Given the description of an element on the screen output the (x, y) to click on. 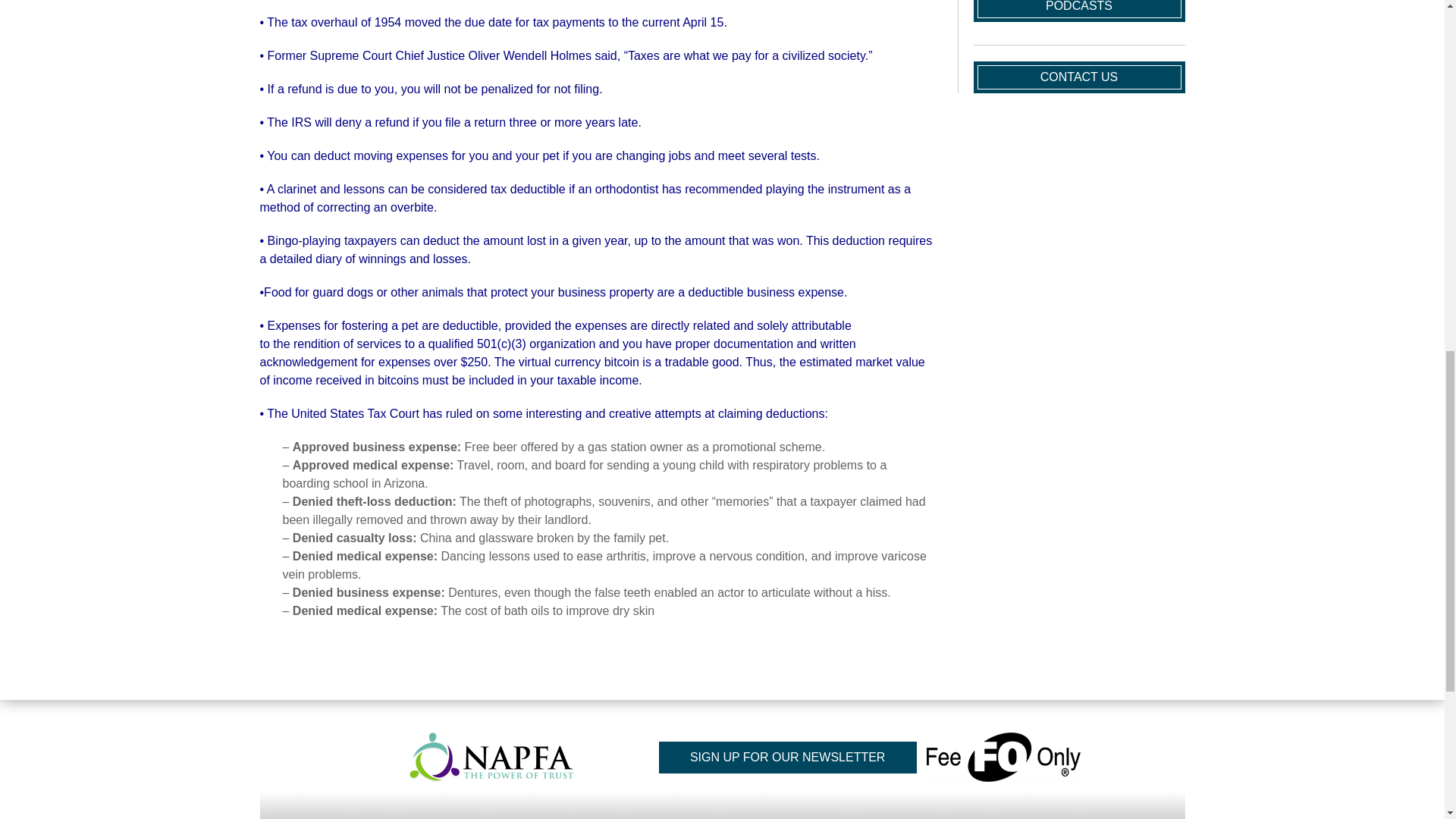
Fee Only (1003, 757)
NAPFA (490, 756)
